Given the description of an element on the screen output the (x, y) to click on. 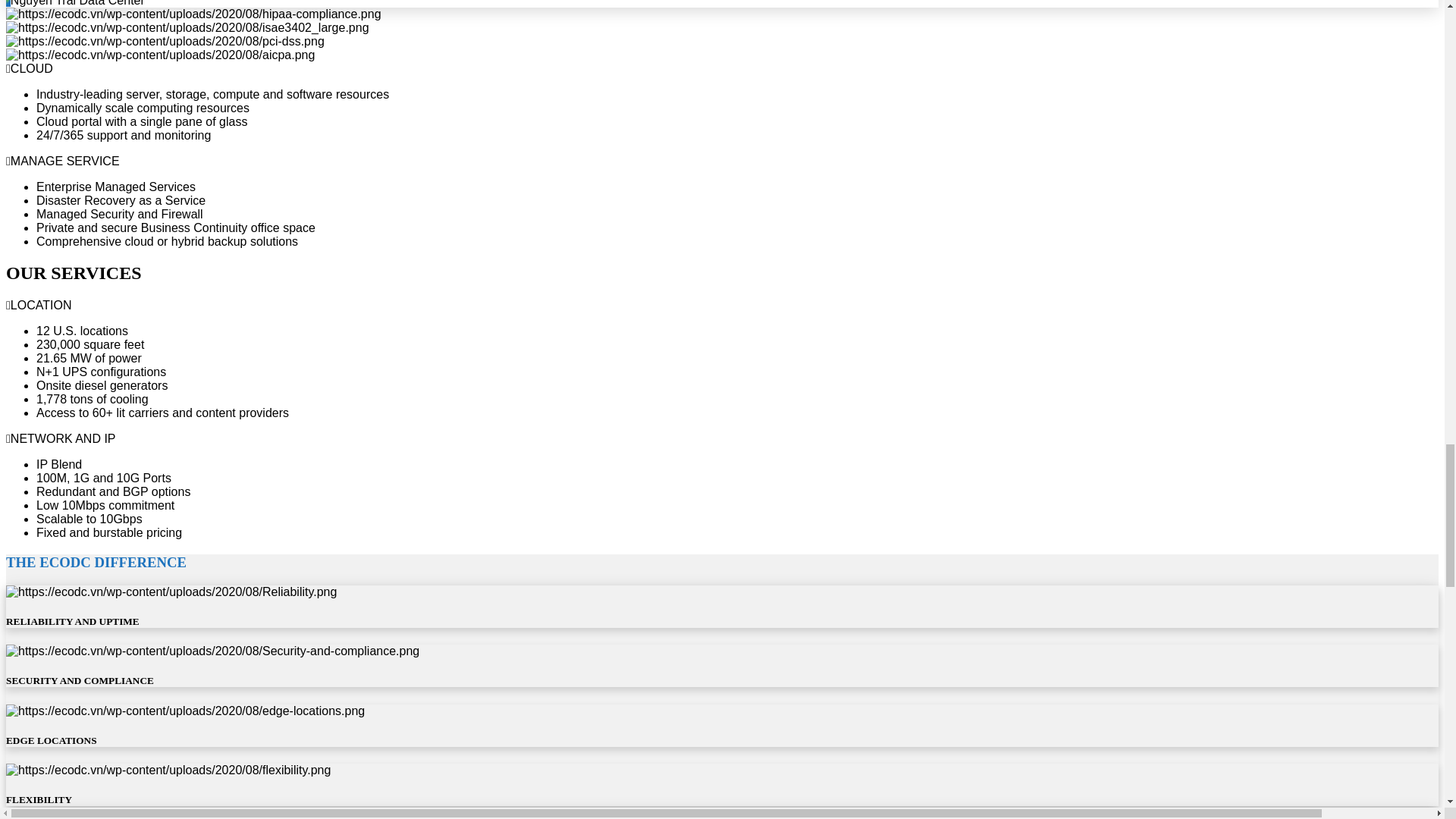
aicpa (159, 55)
Security-and-compliance (212, 651)
hipaa-compliance (193, 14)
pci-dss (164, 41)
Reliability (170, 591)
edge-locations (185, 710)
flexibility (167, 770)
